Given the description of an element on the screen output the (x, y) to click on. 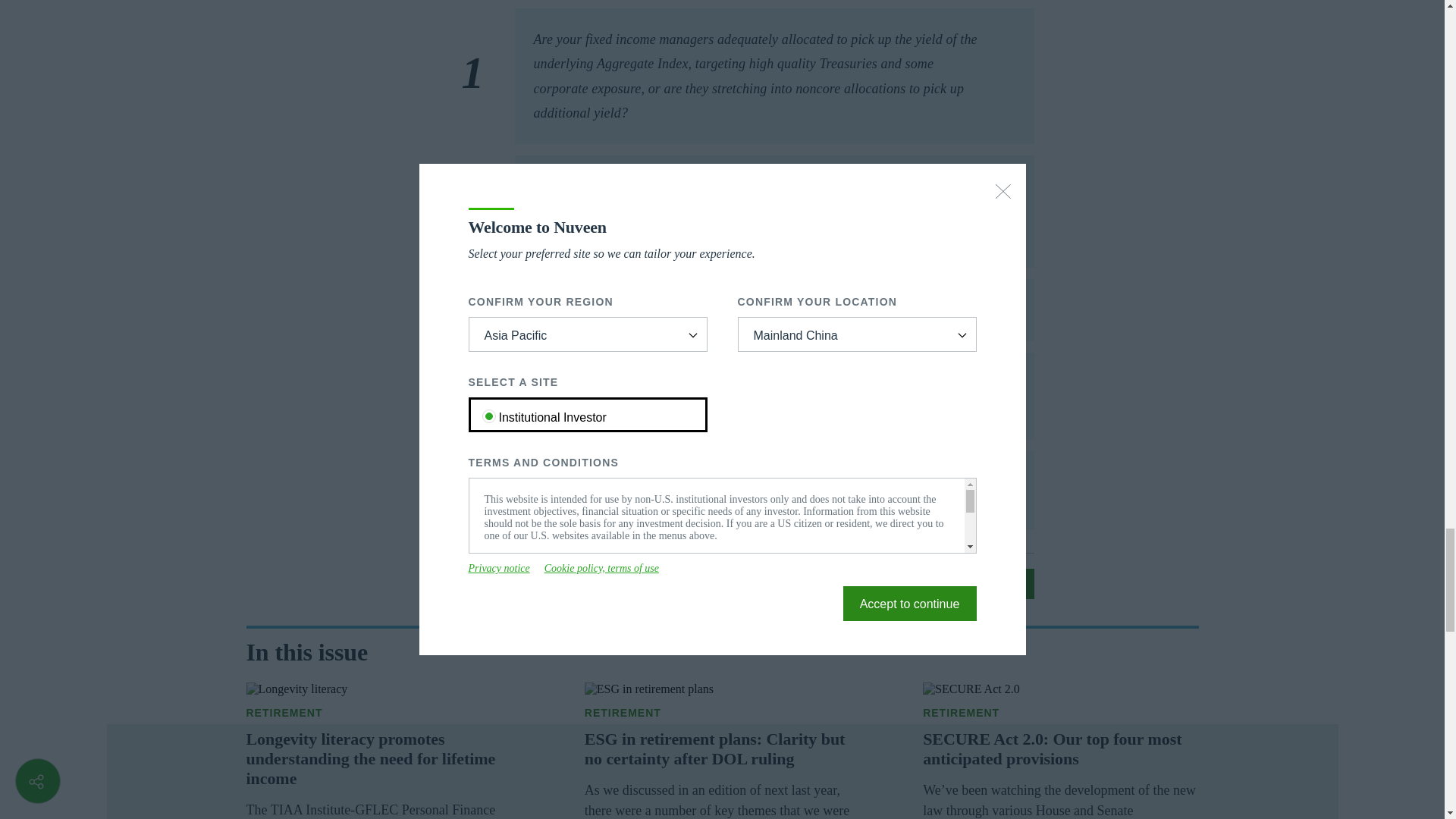
Multi-asset strategy (383, 712)
Multi-asset strategy (1060, 712)
Multi-asset strategy (722, 712)
